Given the description of an element on the screen output the (x, y) to click on. 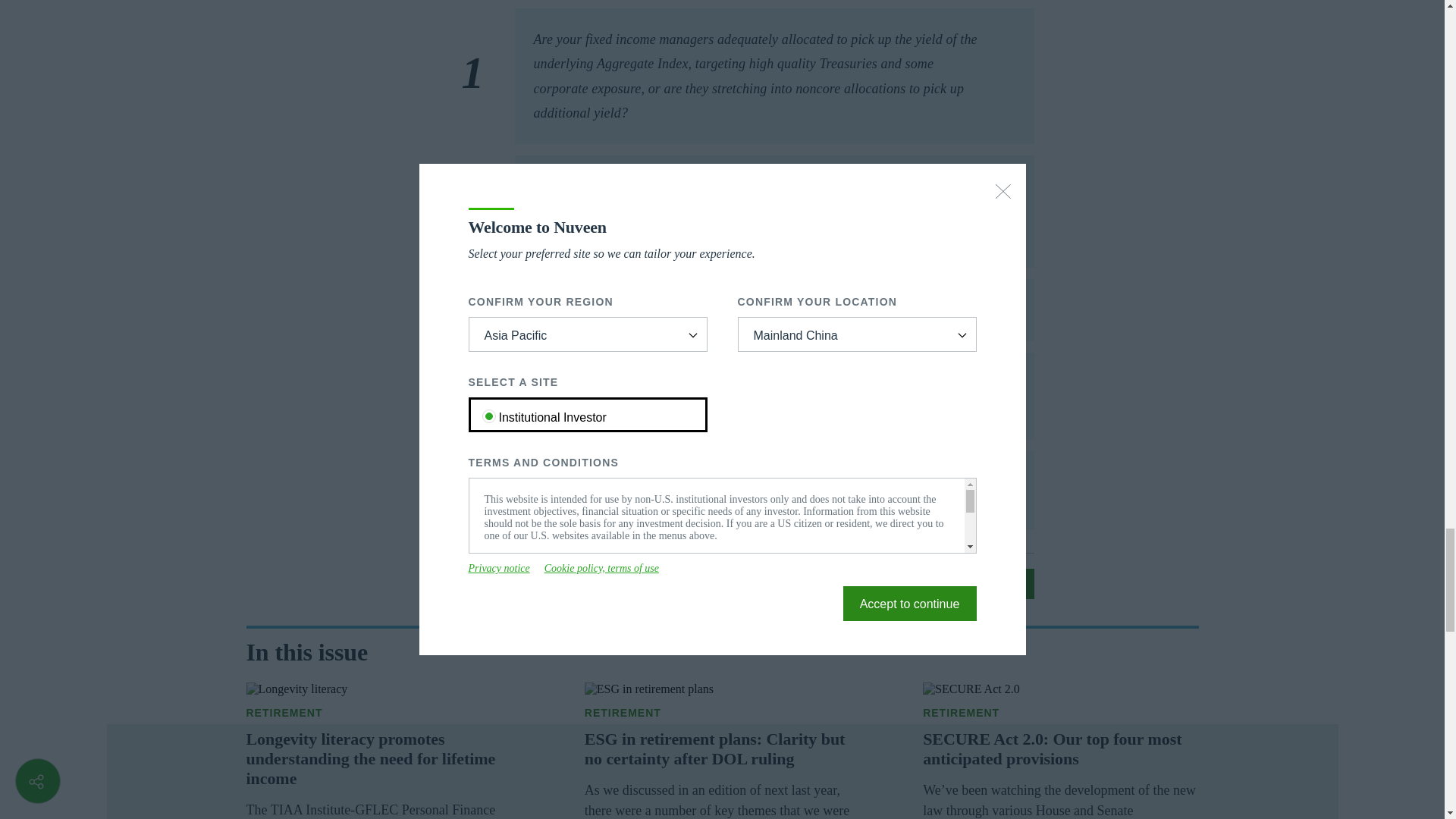
Multi-asset strategy (383, 712)
Multi-asset strategy (1060, 712)
Multi-asset strategy (722, 712)
